Given the description of an element on the screen output the (x, y) to click on. 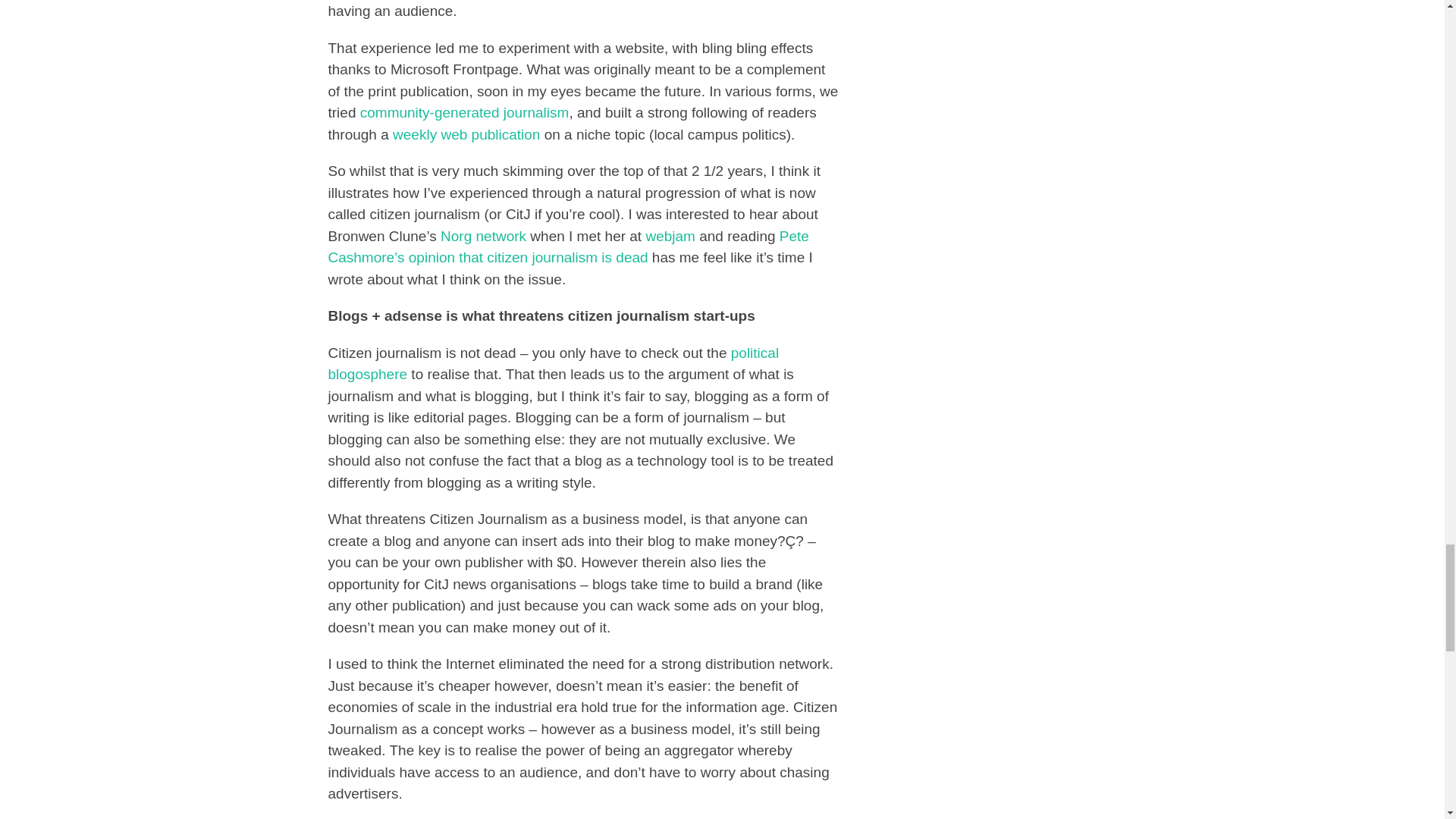
Norg network (483, 236)
political blogosphere (552, 363)
community-generated journalism (464, 112)
weekly web publication (466, 134)
webjam (669, 236)
